Given the description of an element on the screen output the (x, y) to click on. 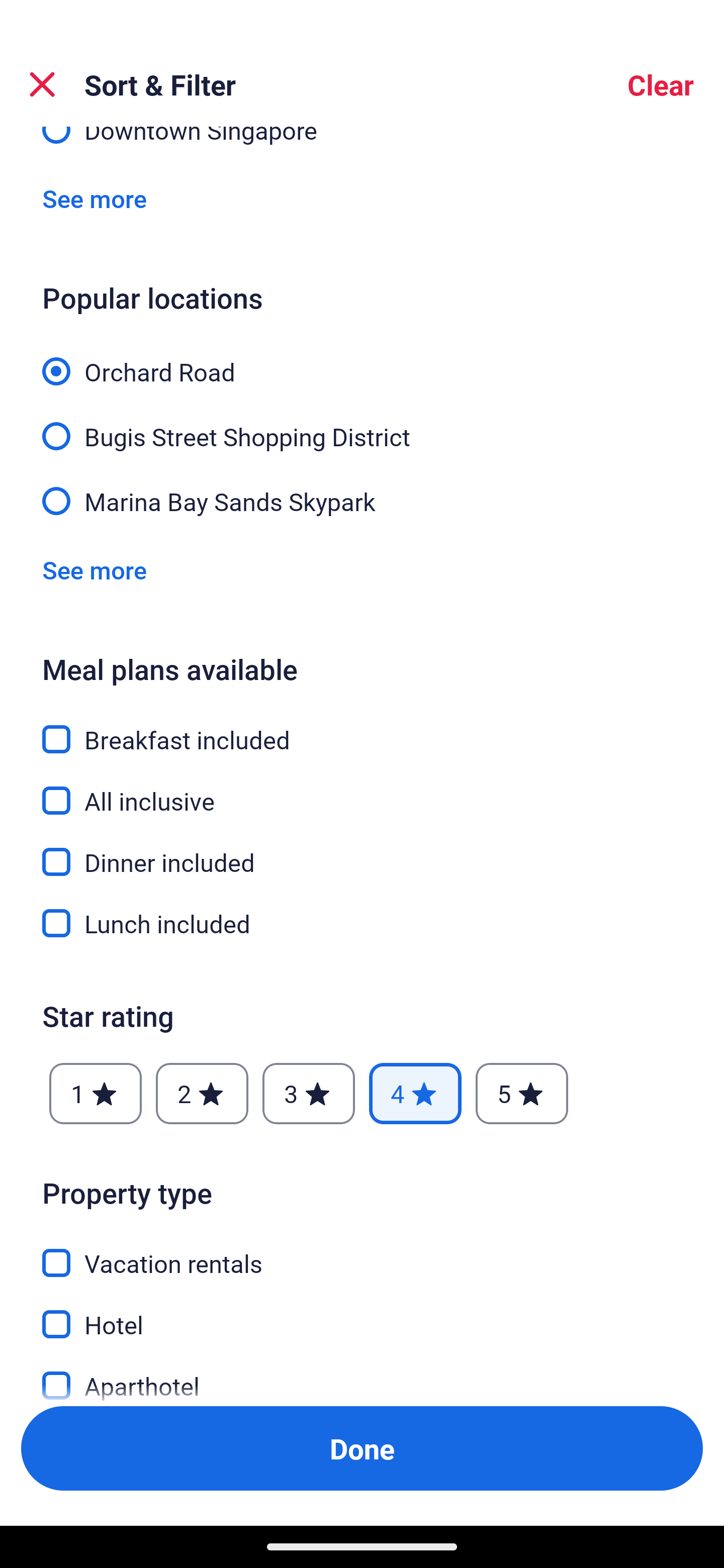
Close Sort and Filter (42, 84)
Clear (660, 84)
See more See more neighborhoods Link (93, 198)
Bugis Street Shopping District (361, 425)
Marina Bay Sands Skypark (361, 499)
See more See more popular locations Link (93, 569)
Breakfast included, Breakfast included (361, 727)
All inclusive, All inclusive (361, 789)
Dinner included, Dinner included (361, 850)
Lunch included, Lunch included (361, 923)
1 (95, 1093)
2 (201, 1093)
3 (308, 1093)
4 (415, 1093)
5 (521, 1093)
Vacation rentals, Vacation rentals (361, 1251)
Hotel, Hotel (361, 1312)
Aparthotel, Aparthotel (361, 1374)
Apply and close Sort and Filter Done (361, 1448)
